Given the description of an element on the screen output the (x, y) to click on. 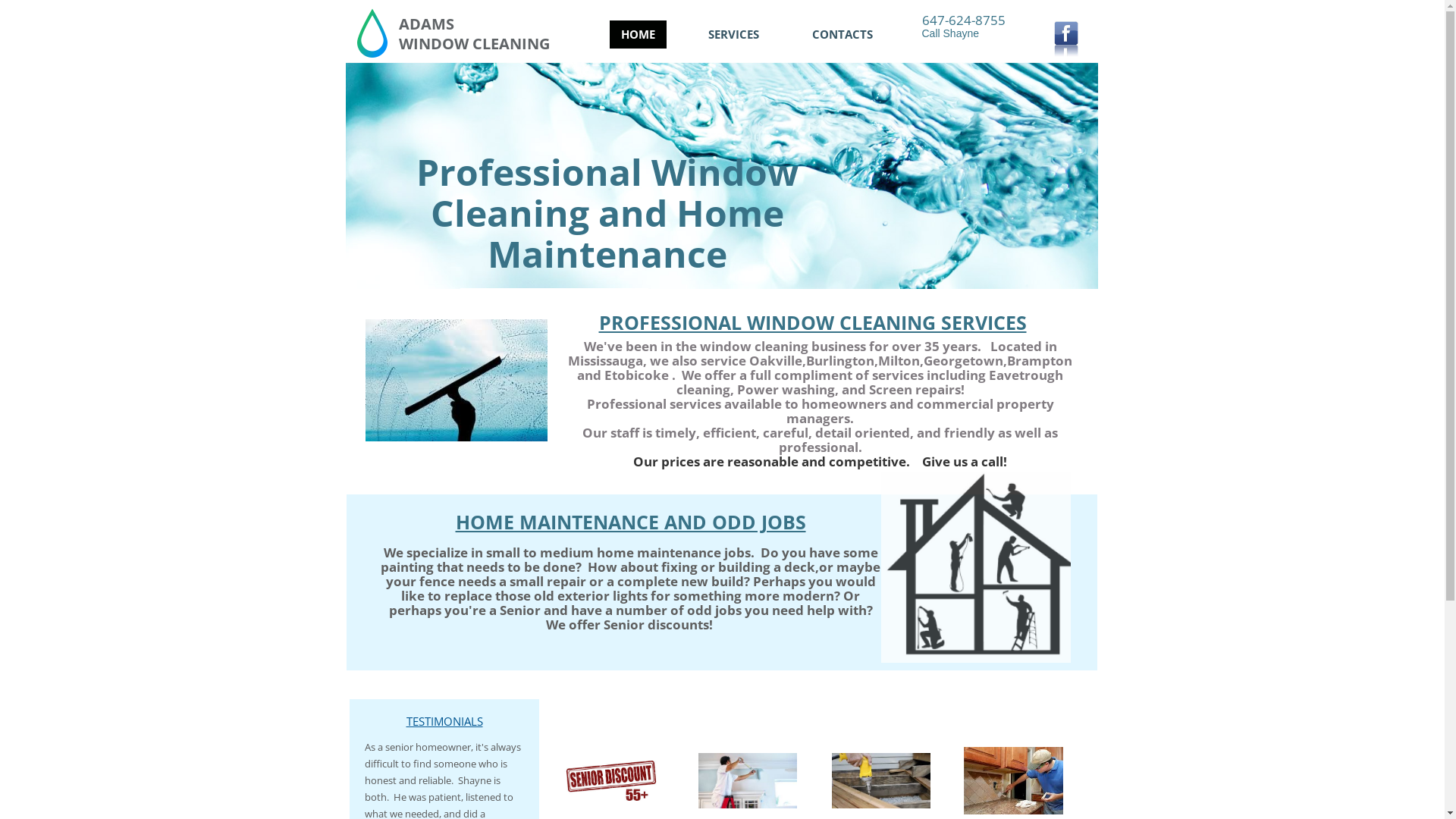
CONTACTS Element type: text (842, 33)
HOME Element type: text (637, 33)
SERVICES Element type: text (732, 33)
